Given the description of an element on the screen output the (x, y) to click on. 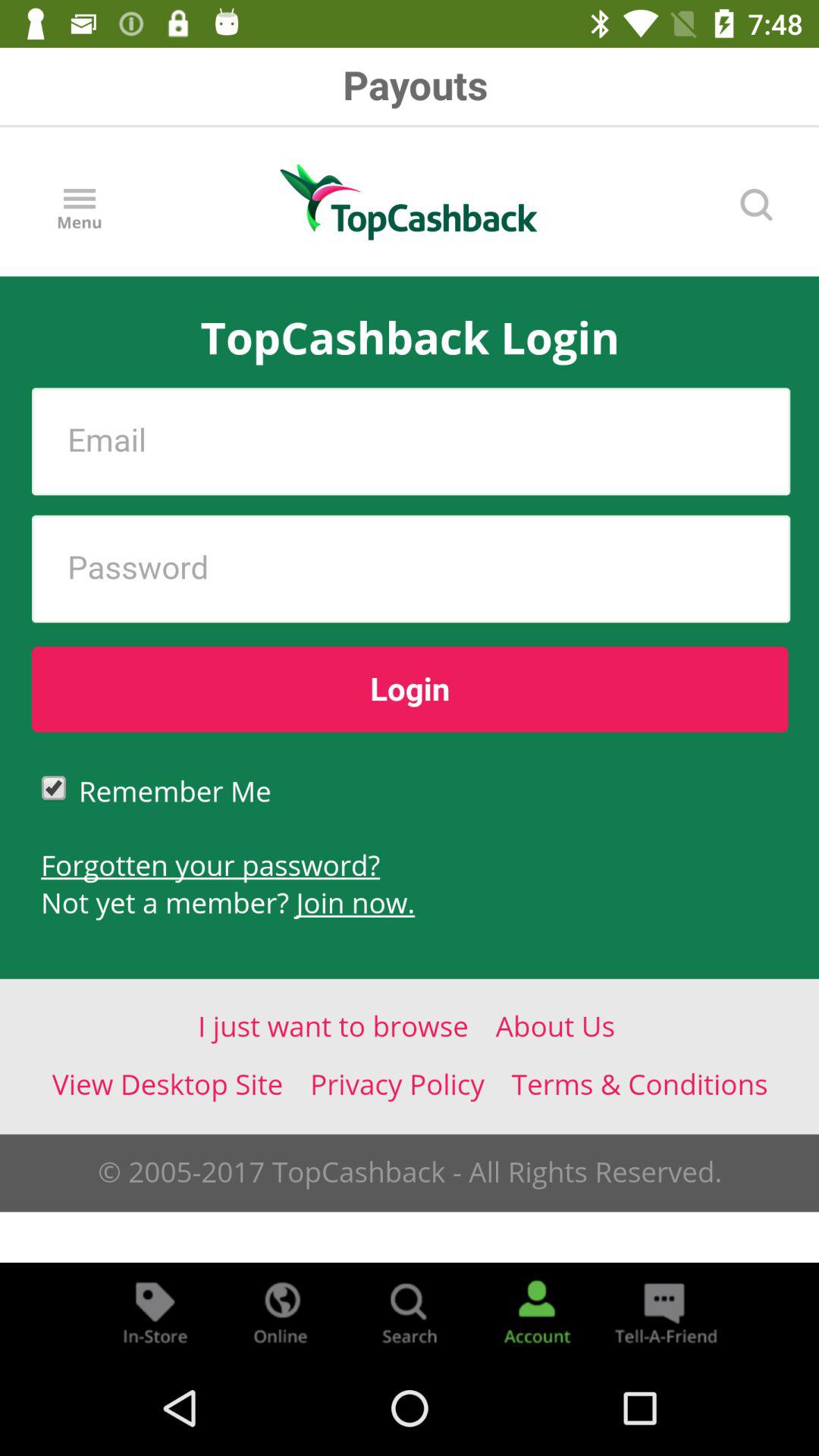
search who is online (281, 1311)
